Given the description of an element on the screen output the (x, y) to click on. 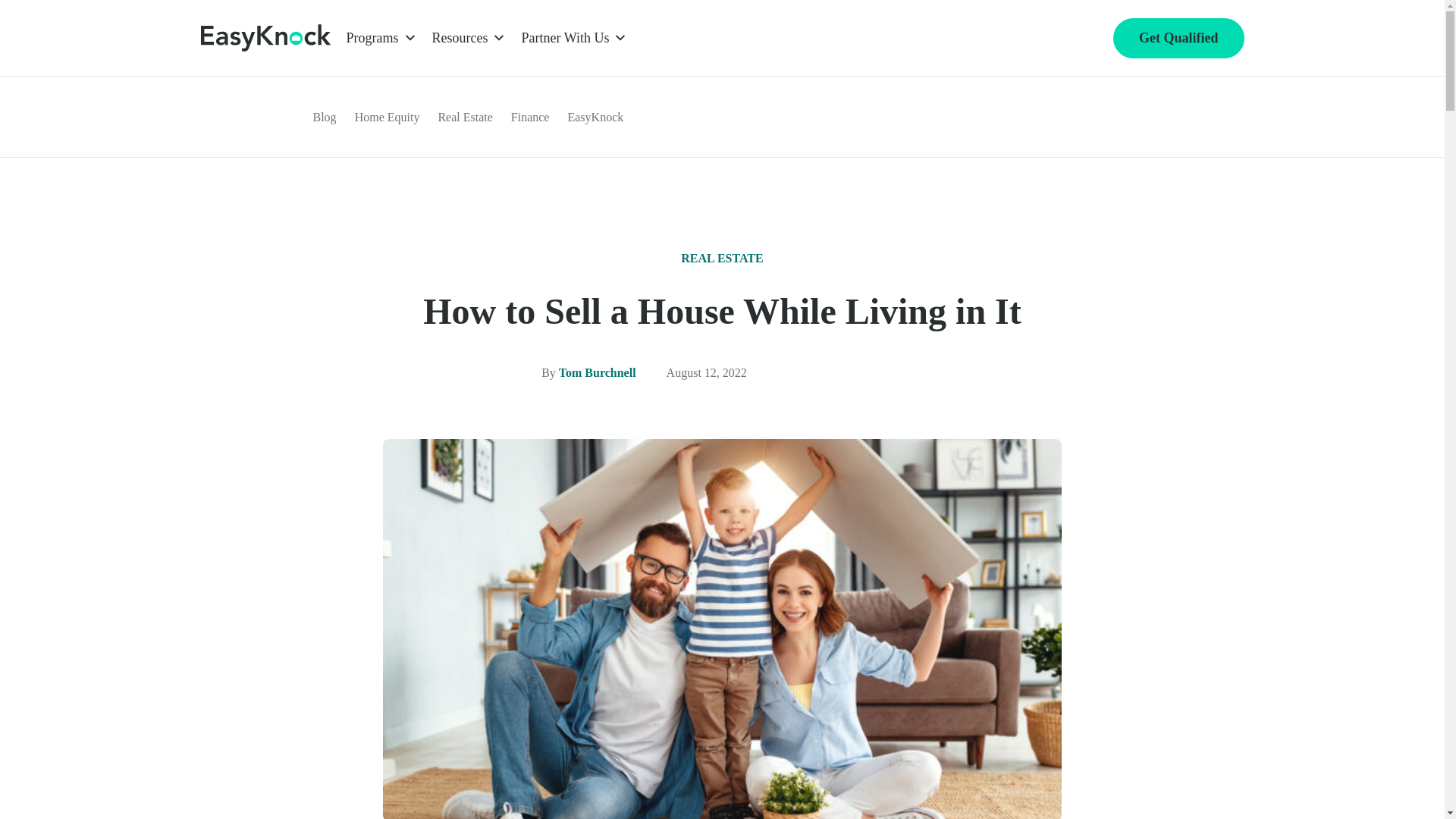
Programs (381, 38)
Get Qualified (1178, 38)
Resources (469, 38)
Partner With Us (574, 38)
